Given the description of an element on the screen output the (x, y) to click on. 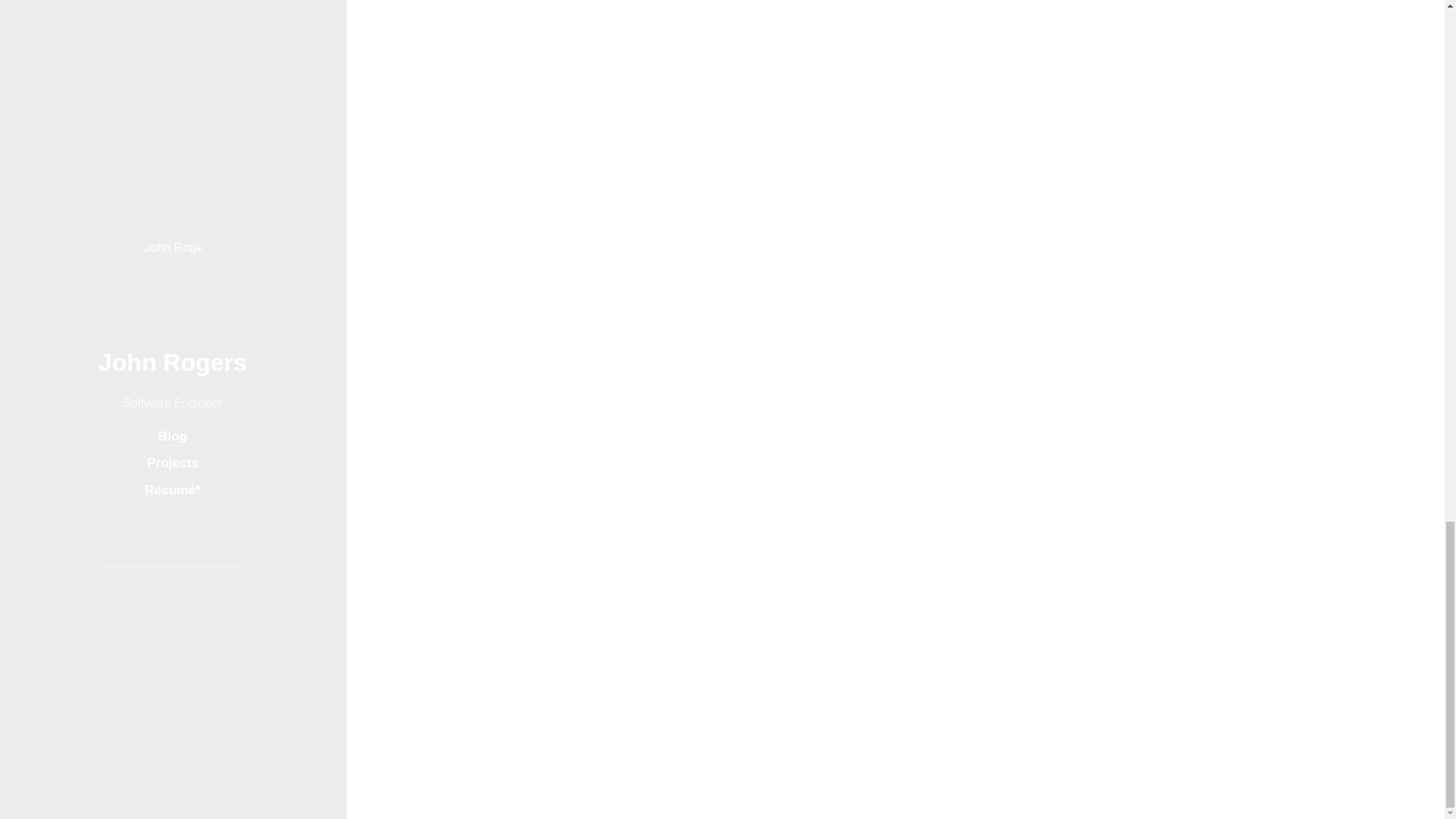
LICENSE (441, 32)
NOTICE (489, 32)
CHANGELOG (549, 32)
